Given the description of an element on the screen output the (x, y) to click on. 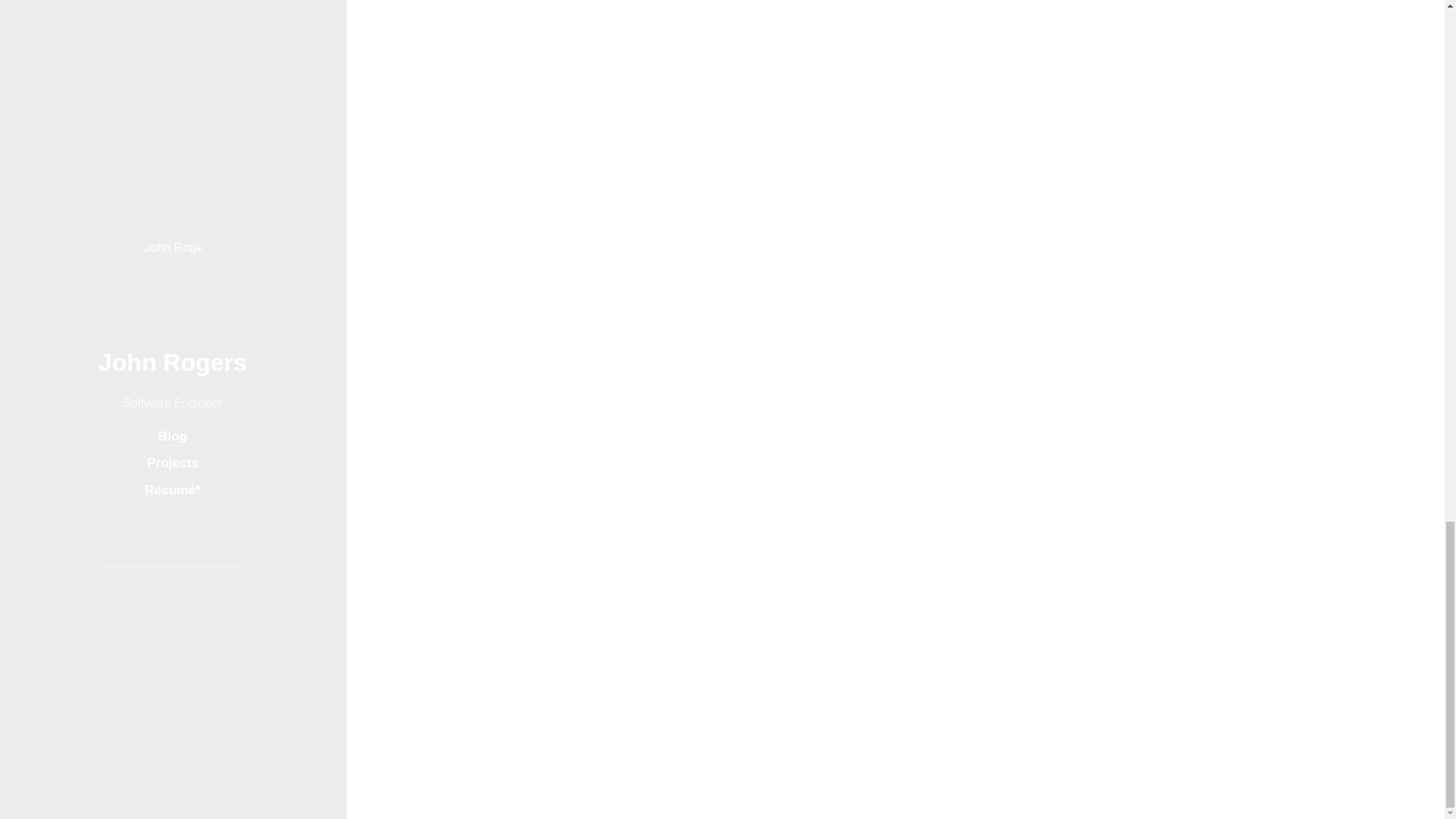
LICENSE (441, 32)
NOTICE (489, 32)
CHANGELOG (549, 32)
